Given the description of an element on the screen output the (x, y) to click on. 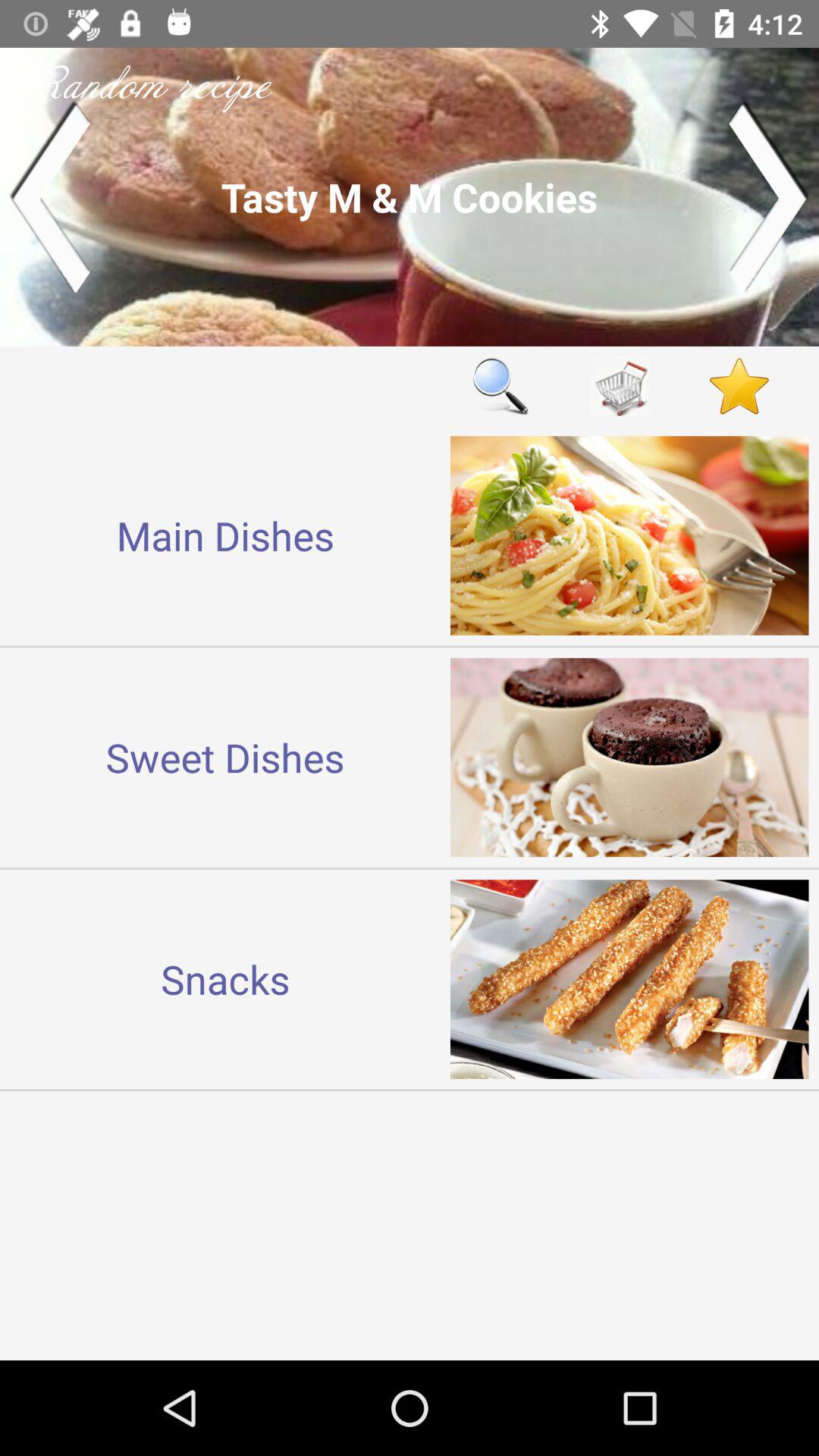
choose the item to the right of the main dishes item (500, 385)
